Given the description of an element on the screen output the (x, y) to click on. 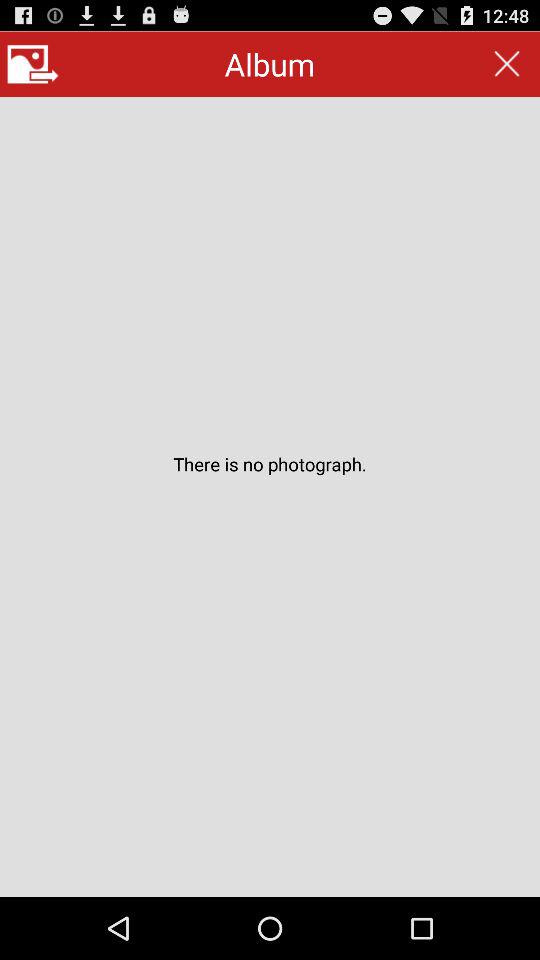
go to next photo (32, 64)
